Given the description of an element on the screen output the (x, y) to click on. 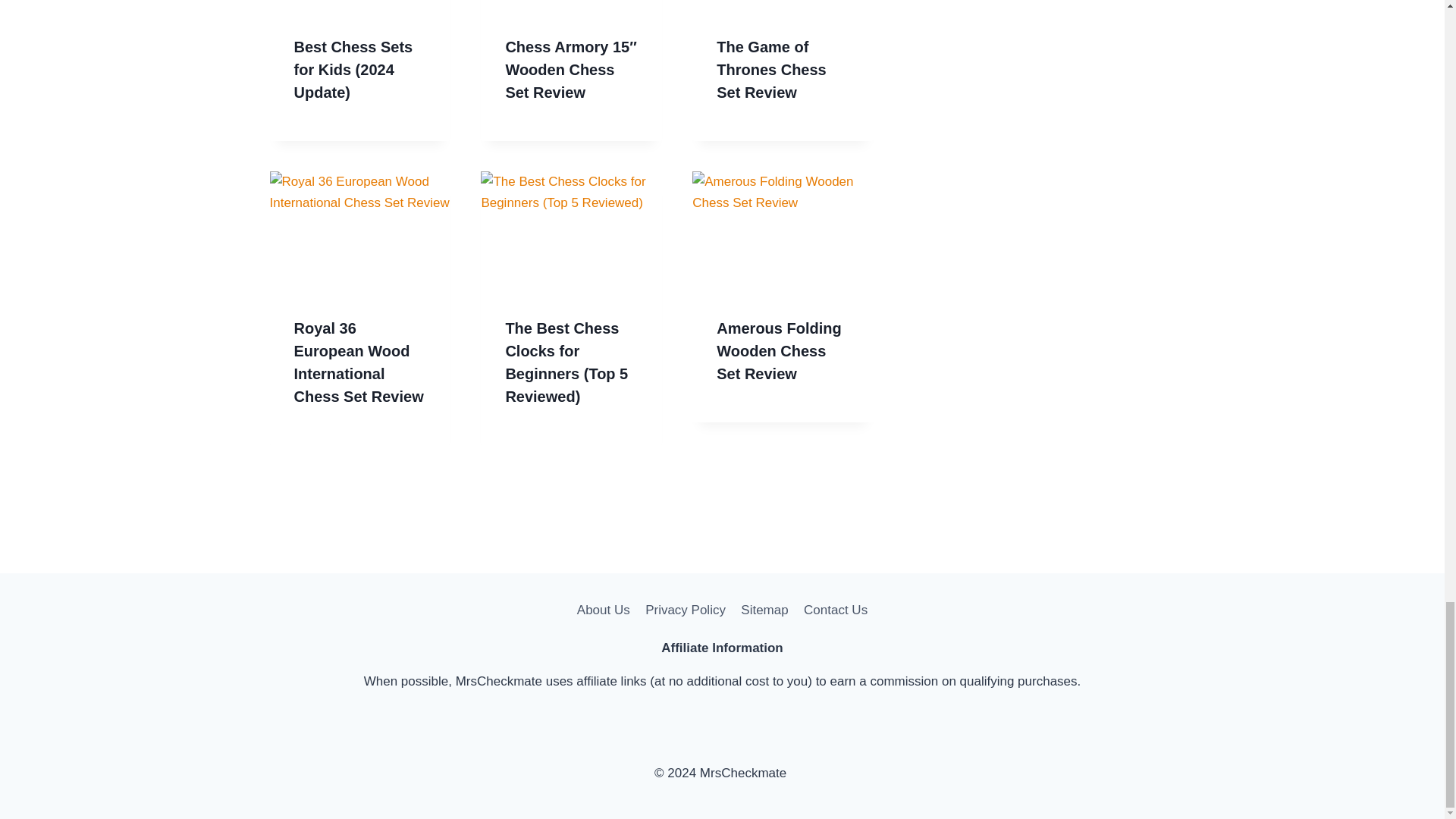
About Us (603, 610)
Amerous Folding Wooden Chess Set Review (778, 351)
Royal 36 European Wood International Chess Set Review (358, 362)
Privacy Policy (685, 610)
The Game of Thrones Chess Set Review (770, 69)
Contact Us (835, 610)
Sitemap (764, 610)
